Given the description of an element on the screen output the (x, y) to click on. 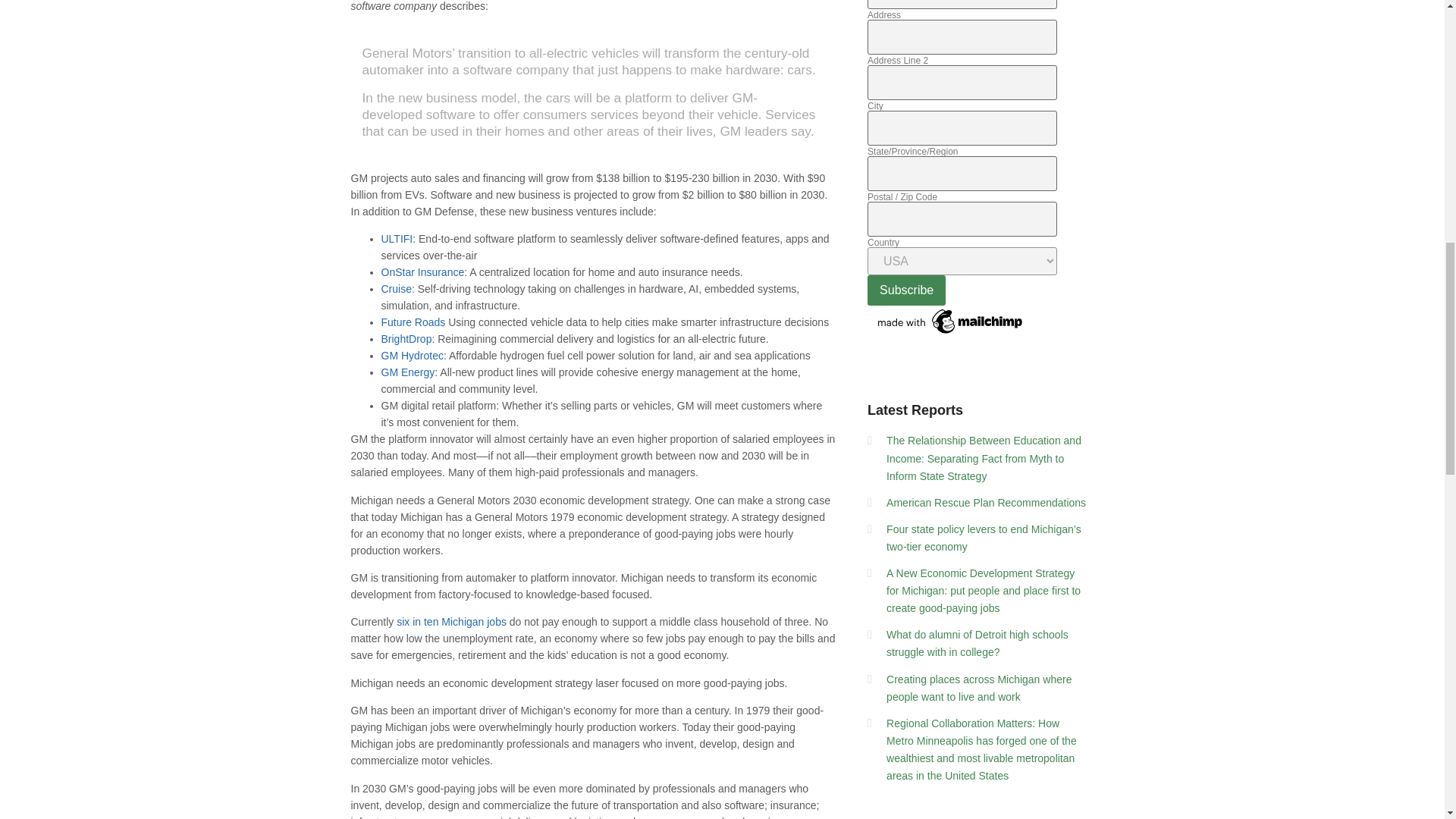
Mailchimp - email marketing made easy and fun (950, 334)
ULTIFI: (397, 238)
Future Roads (412, 322)
Cruise (395, 288)
Subscribe (905, 290)
OnStar Insurance (422, 272)
